Given the description of an element on the screen output the (x, y) to click on. 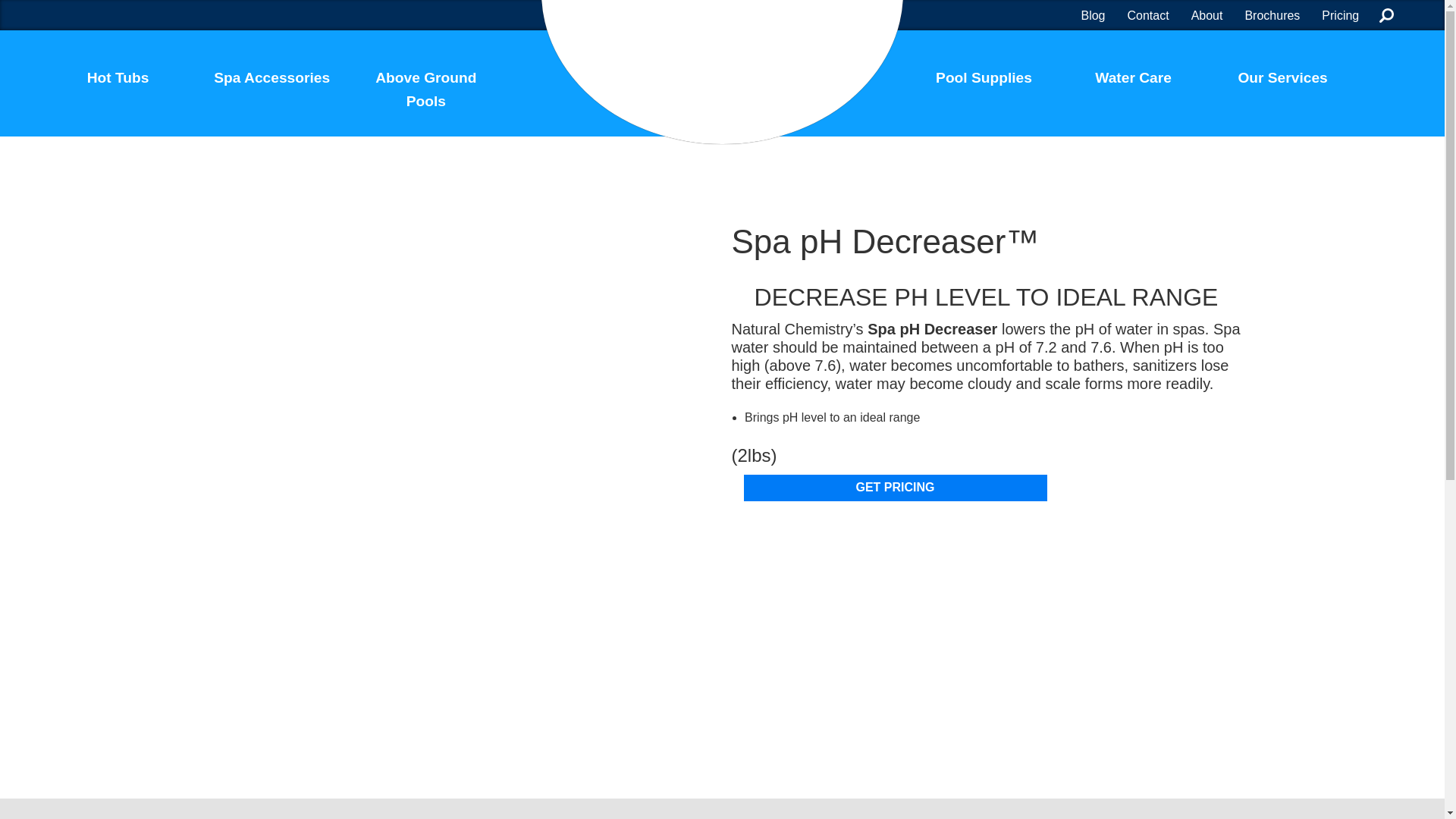
Search (1386, 15)
Pricing (1339, 16)
Brochures (1271, 16)
Contact (1147, 16)
Hot Tubs (117, 83)
About (1206, 16)
Spa Accessories (271, 83)
Blog (1092, 16)
